Given the description of an element on the screen output the (x, y) to click on. 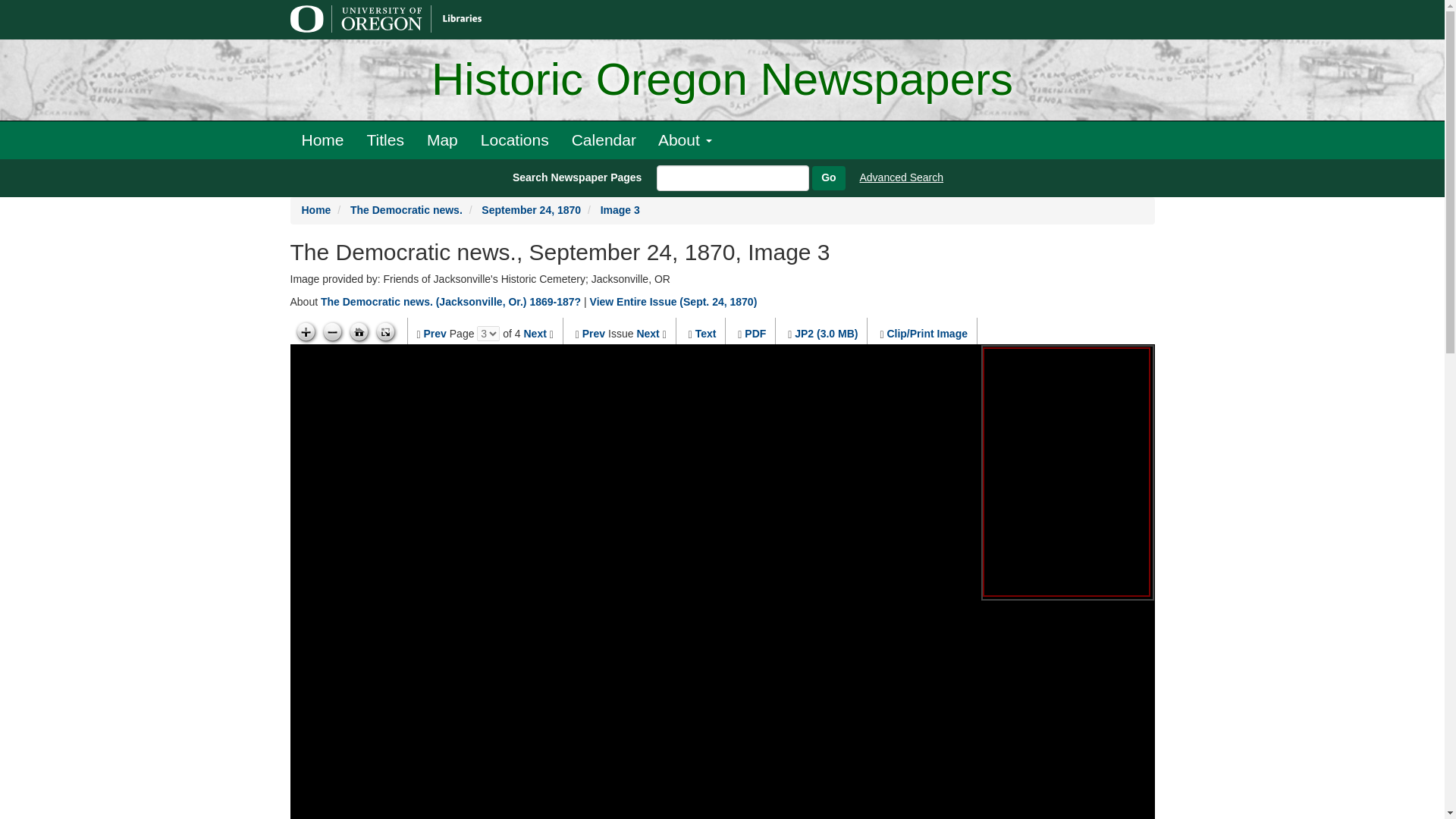
Home (322, 139)
September 24, 1870 (530, 209)
PDF (754, 333)
The Democratic news. (406, 209)
Image 3 (619, 209)
Locations (514, 139)
Titles (384, 139)
Advanced Search (901, 177)
About (684, 140)
Text (705, 333)
Historic Oregon Newspapers (721, 79)
Map (441, 139)
Calendar (603, 139)
Prev (593, 333)
Toggle full page (385, 332)
